Given the description of an element on the screen output the (x, y) to click on. 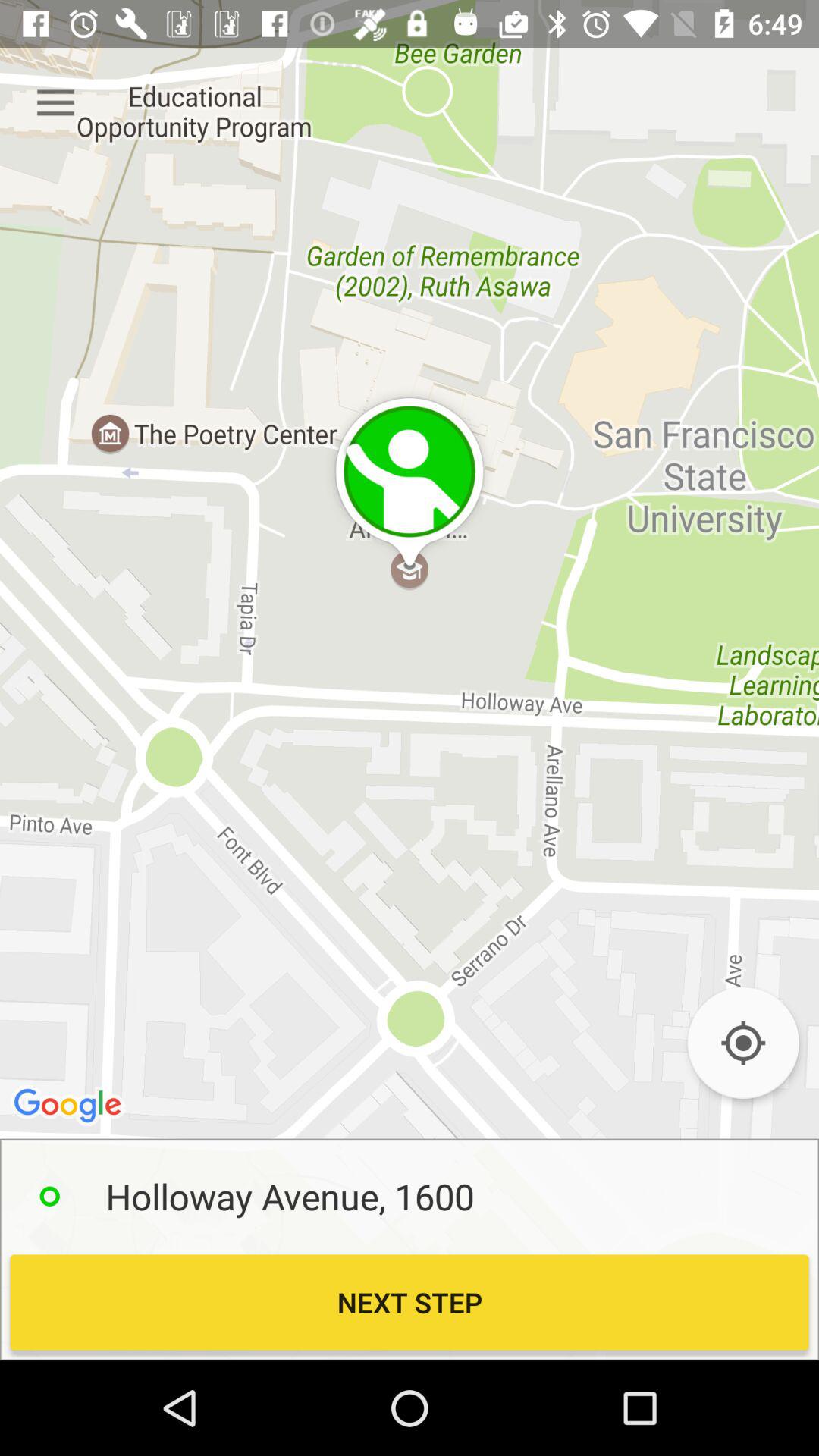
go to previous (743, 1042)
